Given the description of an element on the screen output the (x, y) to click on. 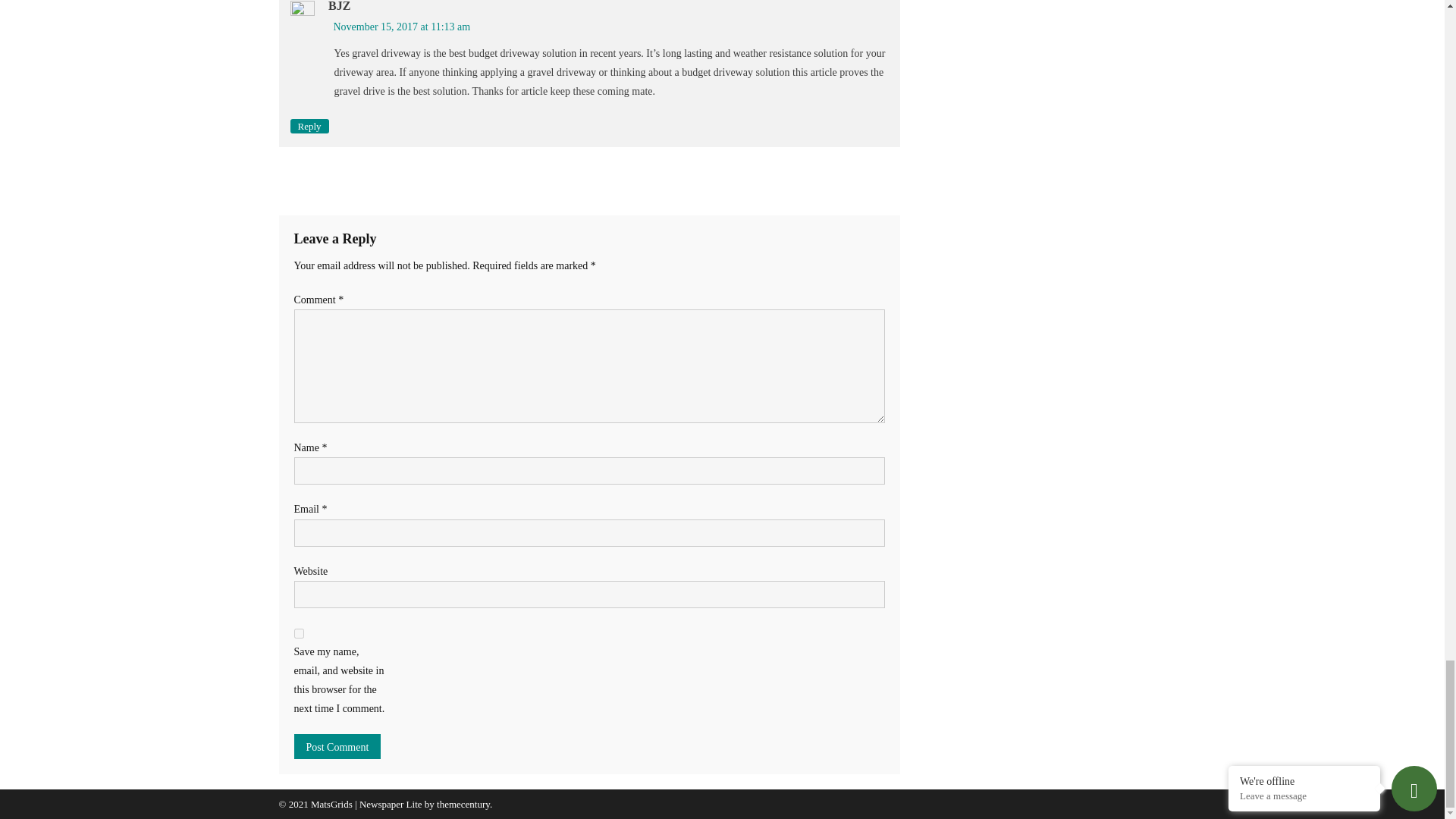
yes (299, 633)
Post Comment (337, 746)
